Given the description of an element on the screen output the (x, y) to click on. 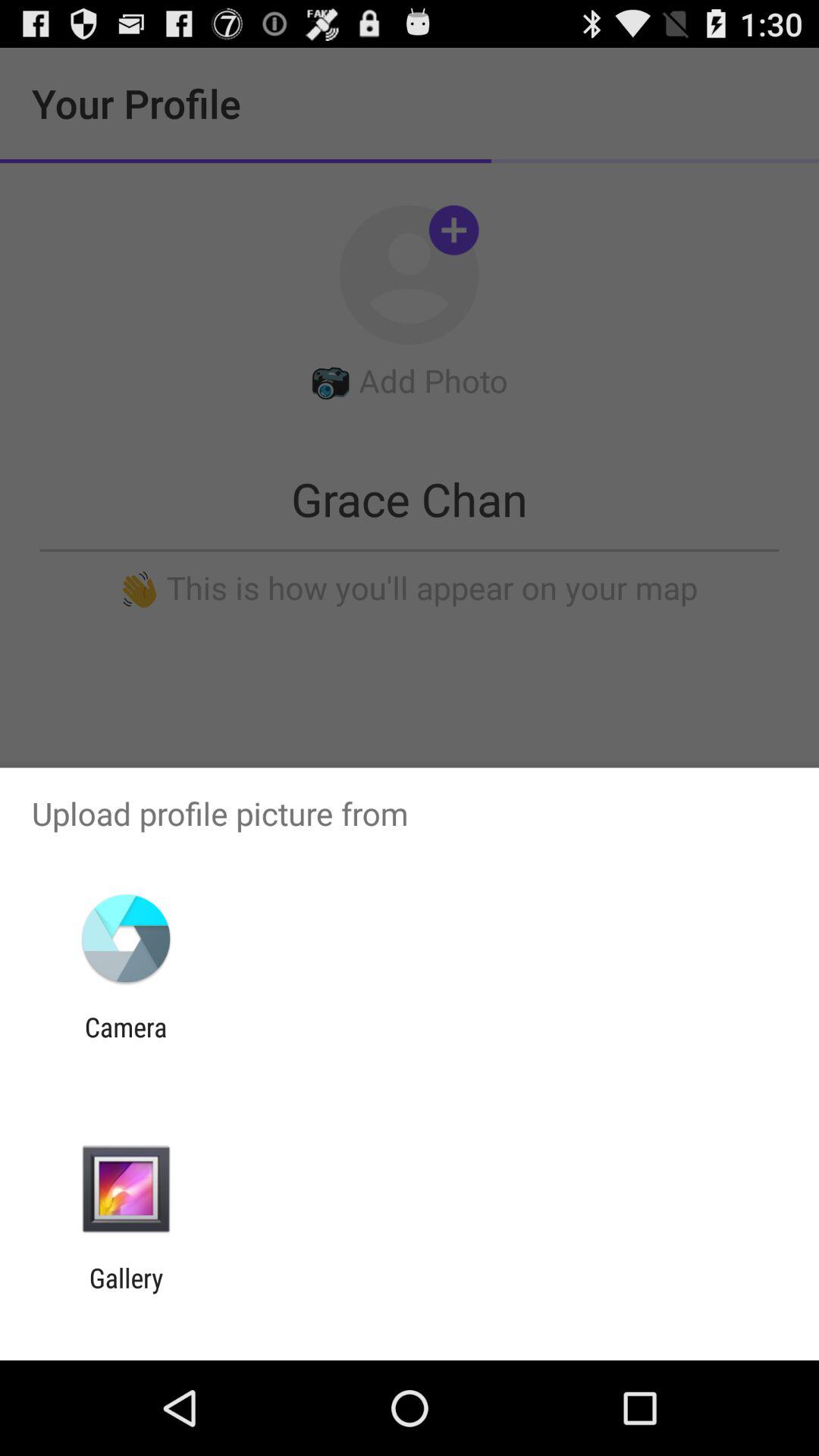
open camera (125, 1042)
